Given the description of an element on the screen output the (x, y) to click on. 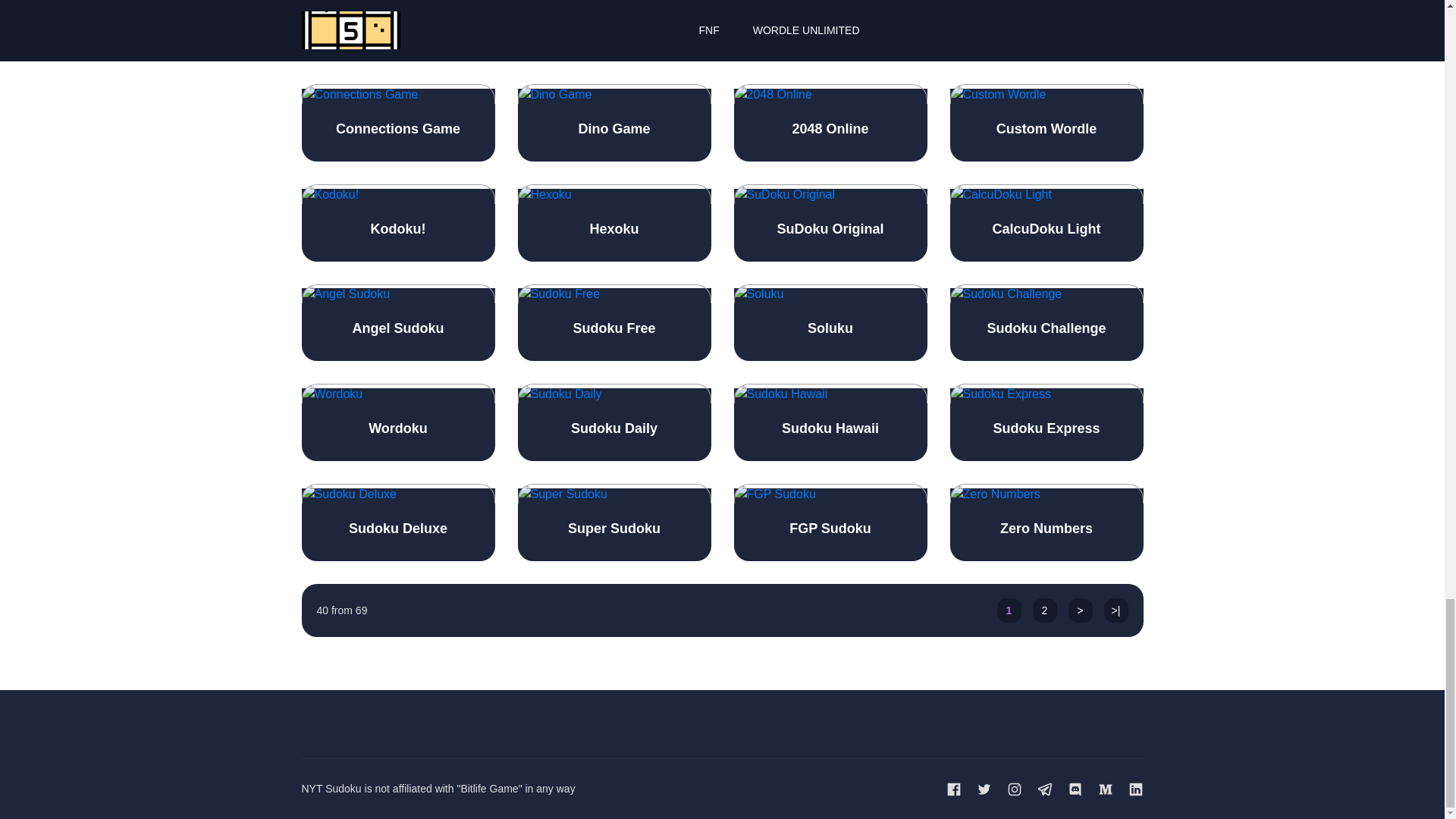
Dino Game (613, 122)
Sudoku Hawaii (830, 422)
CalcuDoku Light (1045, 222)
Kodoku! (398, 222)
2048 Online (830, 122)
Sudoku Daily (613, 422)
Wordoku (398, 422)
Sudoku Challenge (1045, 322)
Dinosaur Game Online (1045, 30)
SuDoku Original (830, 222)
Custom Wordle (1045, 122)
Immaculate Grid Baseball Online (398, 30)
Soluku (830, 322)
Connections Game (398, 122)
Angel Sudoku (398, 322)
